Given the description of an element on the screen output the (x, y) to click on. 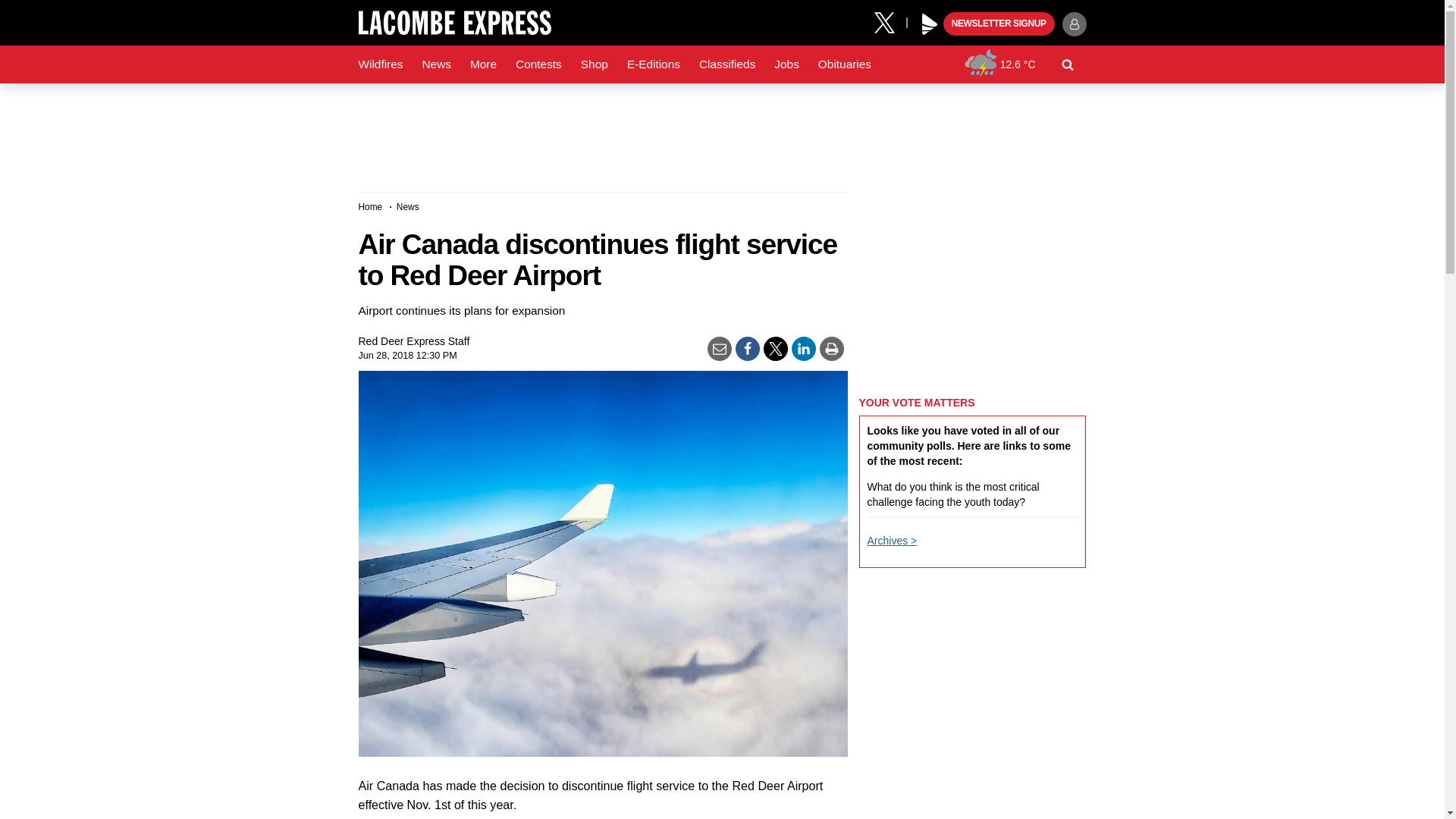
NEWSLETTER SIGNUP (998, 24)
Wildfires (380, 64)
News (435, 64)
Play (929, 24)
Black Press Media (929, 24)
X (889, 21)
